Given the description of an element on the screen output the (x, y) to click on. 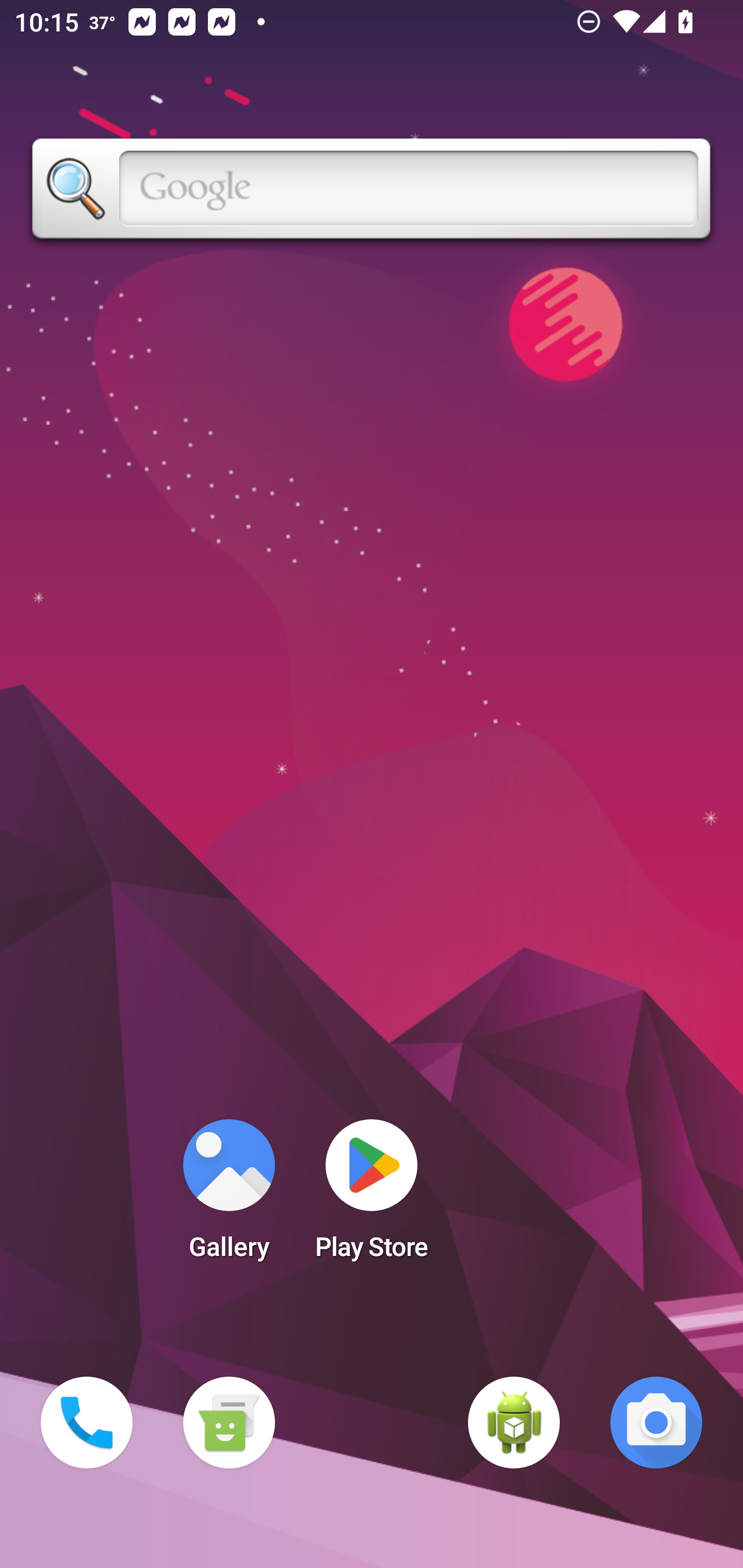
Gallery (228, 1195)
Play Store (371, 1195)
Phone (86, 1422)
Messaging (228, 1422)
WebView Browser Tester (513, 1422)
Camera (656, 1422)
